Given the description of an element on the screen output the (x, y) to click on. 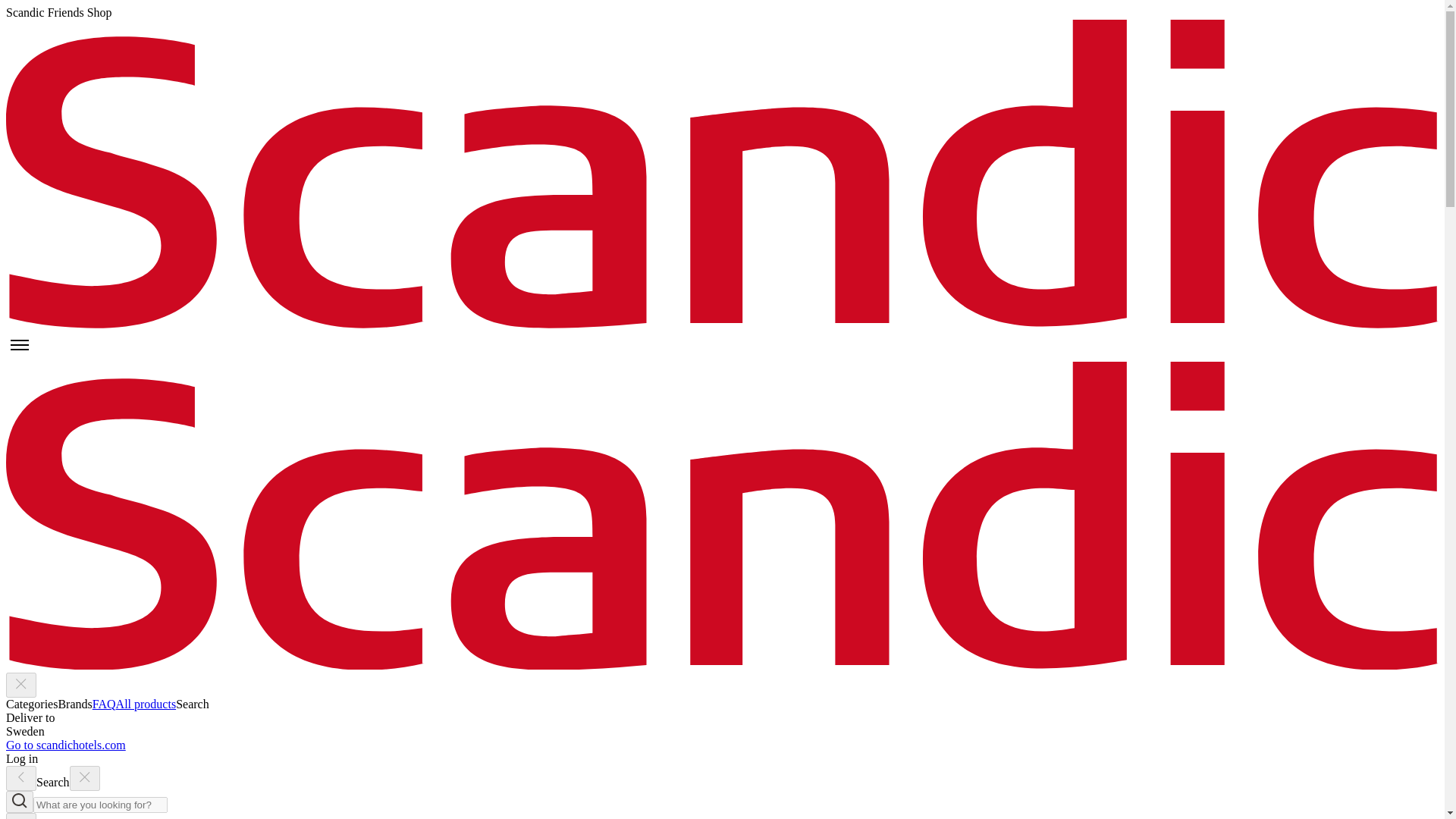
All products (146, 703)
All products (146, 703)
Go to scandichotels.com (65, 744)
FAQ (104, 703)
